Given the description of an element on the screen output the (x, y) to click on. 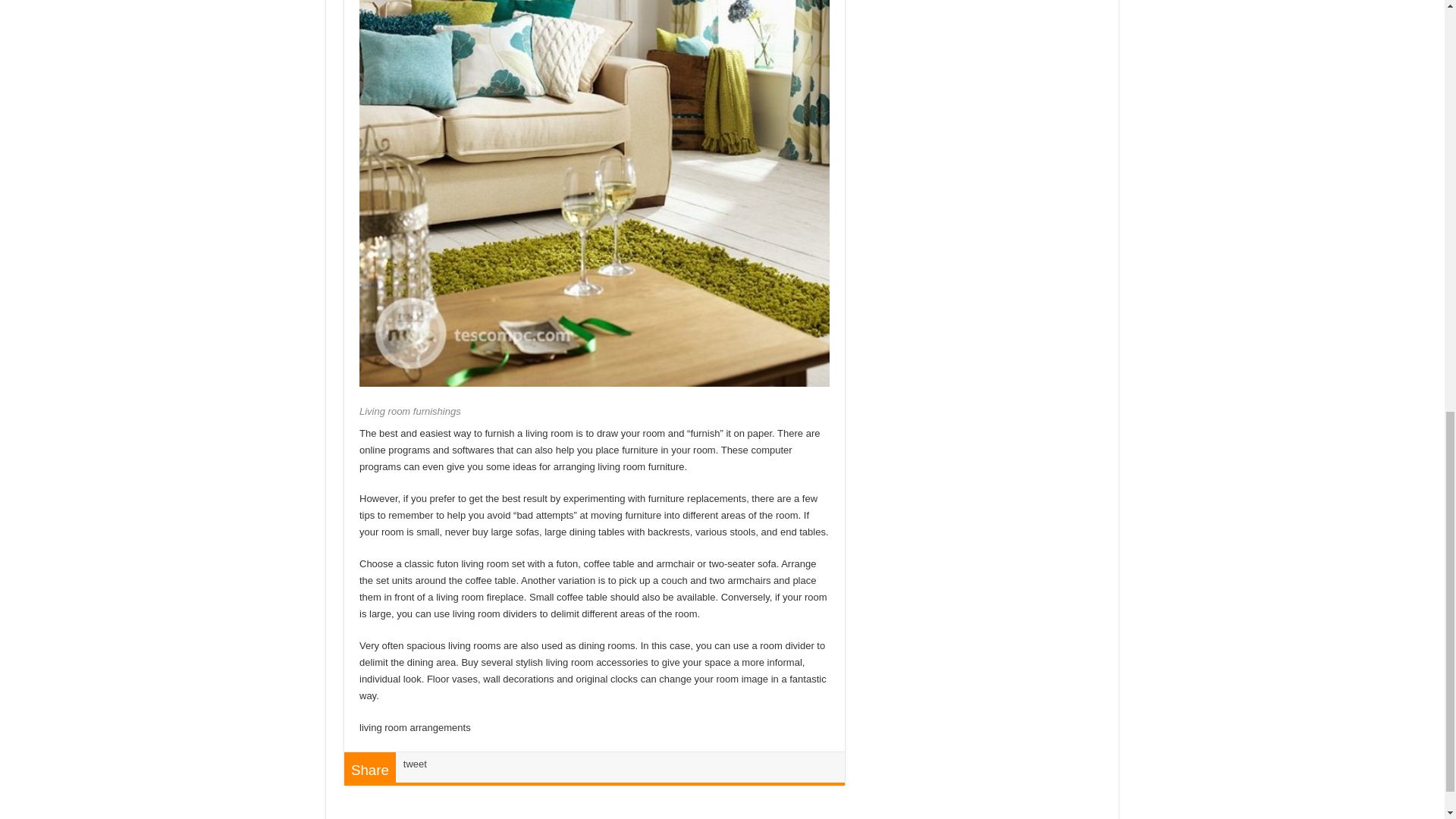
tweet (414, 763)
